Given the description of an element on the screen output the (x, y) to click on. 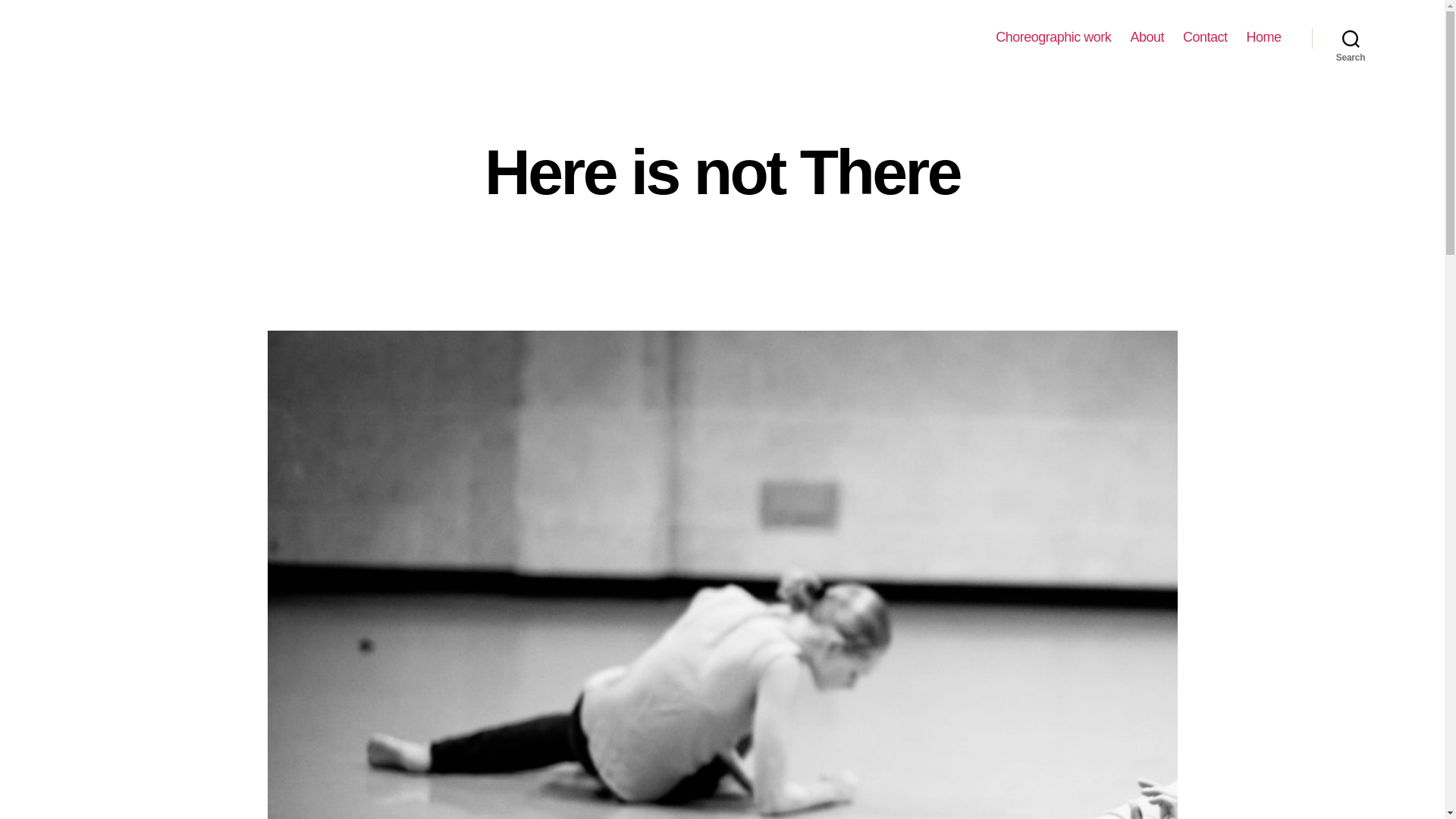
About (1146, 37)
Contact (1204, 37)
Search (1350, 37)
Choreographic work (1052, 37)
Home (1263, 37)
